Given the description of an element on the screen output the (x, y) to click on. 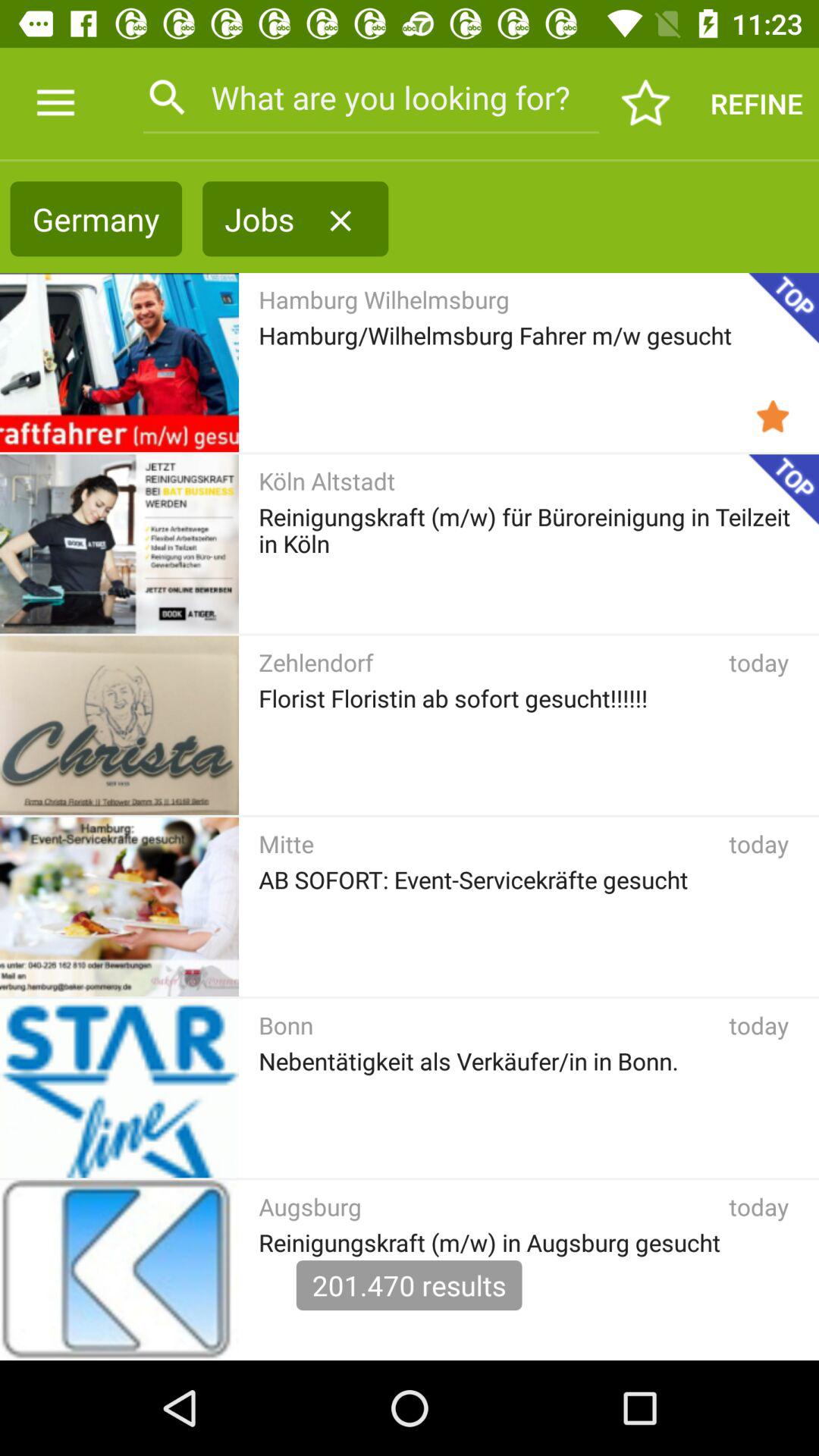
turn off the item to the right of jobs icon (340, 220)
